Given the description of an element on the screen output the (x, y) to click on. 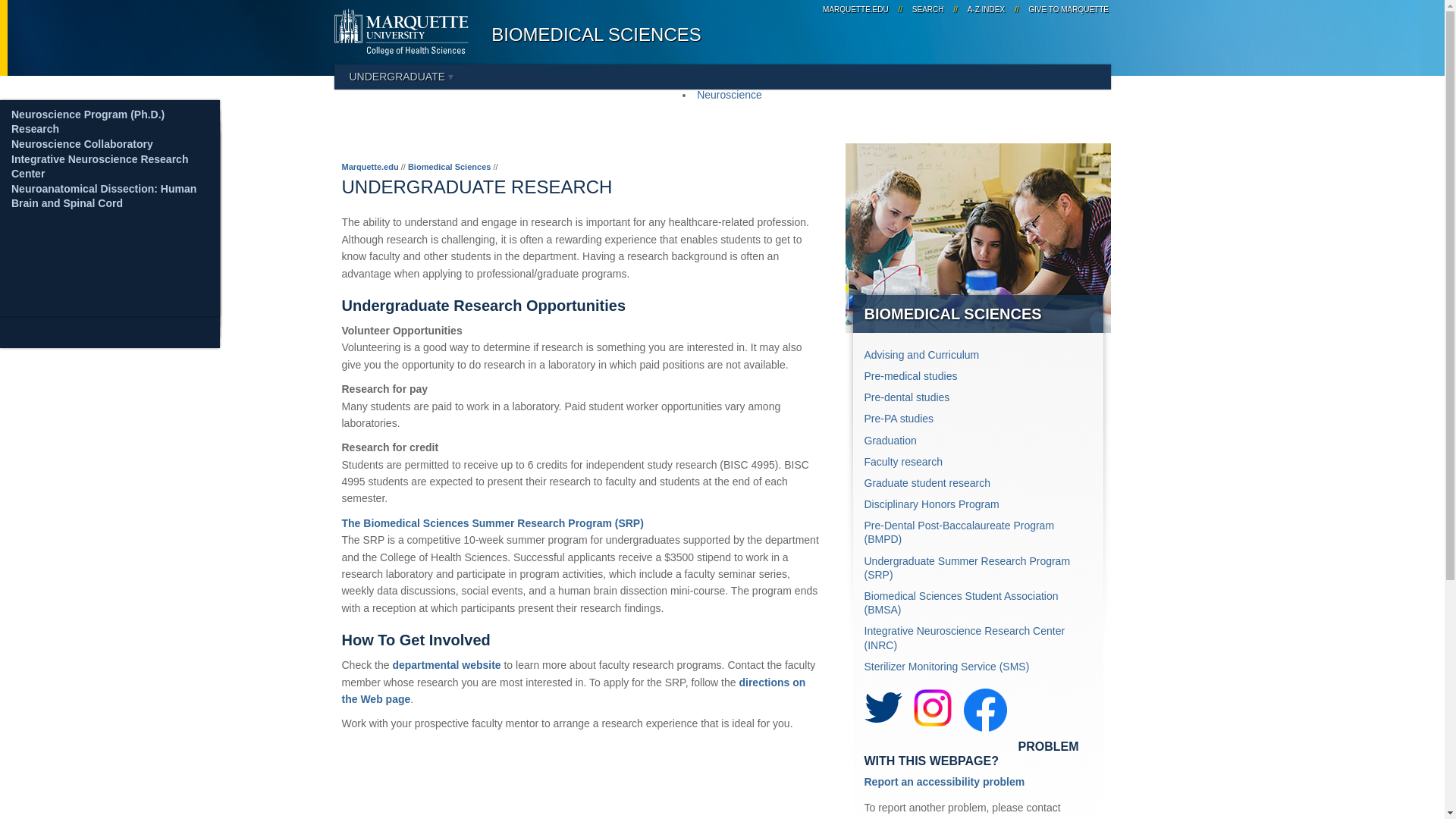
Graduate (36, 105)
Research (35, 128)
BIOMEDICAL SCIENCES (596, 34)
Ph.D. in Neuroscience (67, 139)
Graduate Research (59, 281)
GIVE TO MARQUETTE (1066, 8)
Faculty Research (55, 135)
Neuroscience Collaboratory (81, 143)
Biomedical Sciences (448, 166)
Neuroanatomical Dissection: Human Brain and Spinal Cord (97, 221)
